Given the description of an element on the screen output the (x, y) to click on. 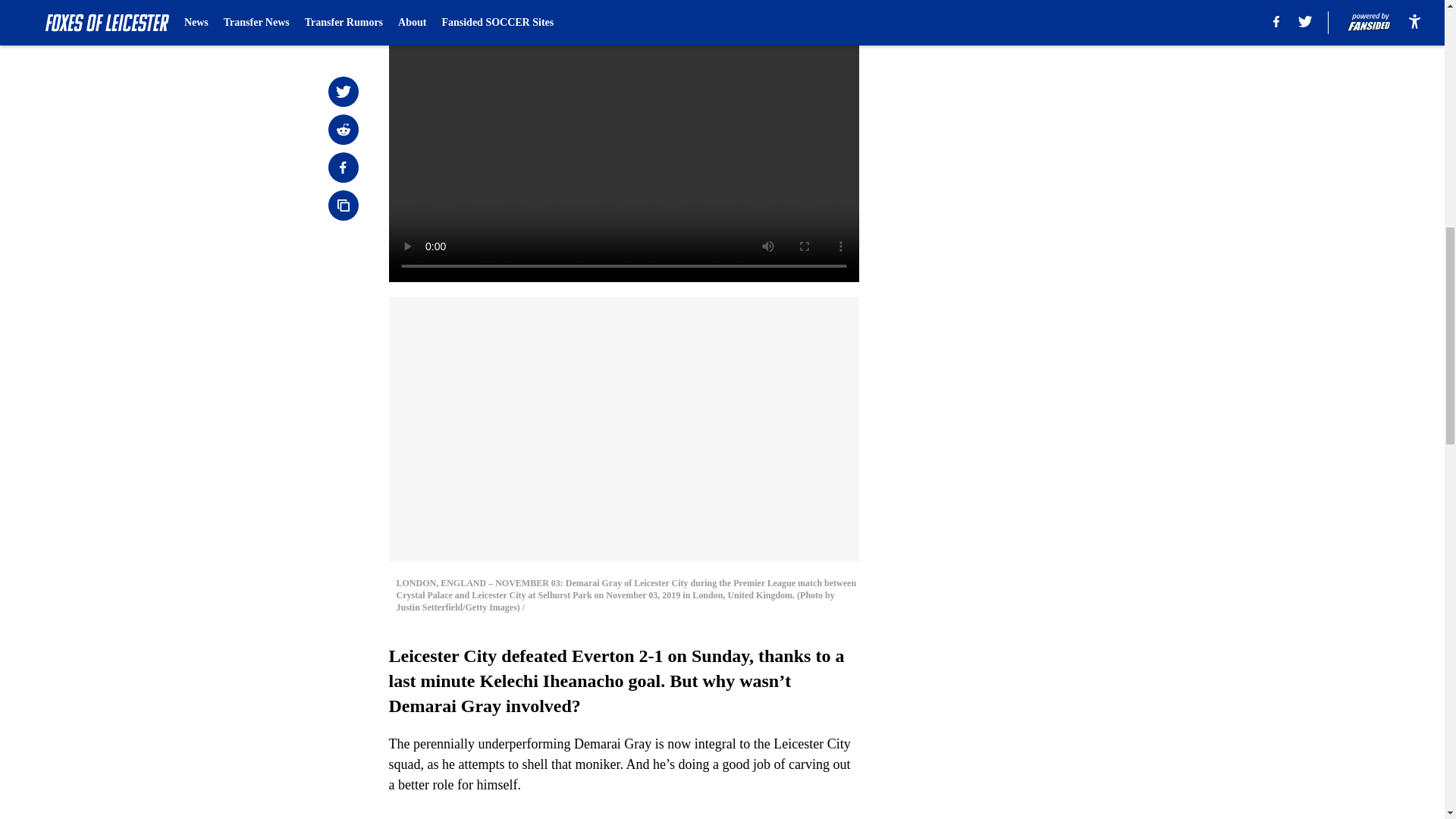
3rd party ad content (1047, 113)
3rd party ad content (1047, 332)
